Given the description of an element on the screen output the (x, y) to click on. 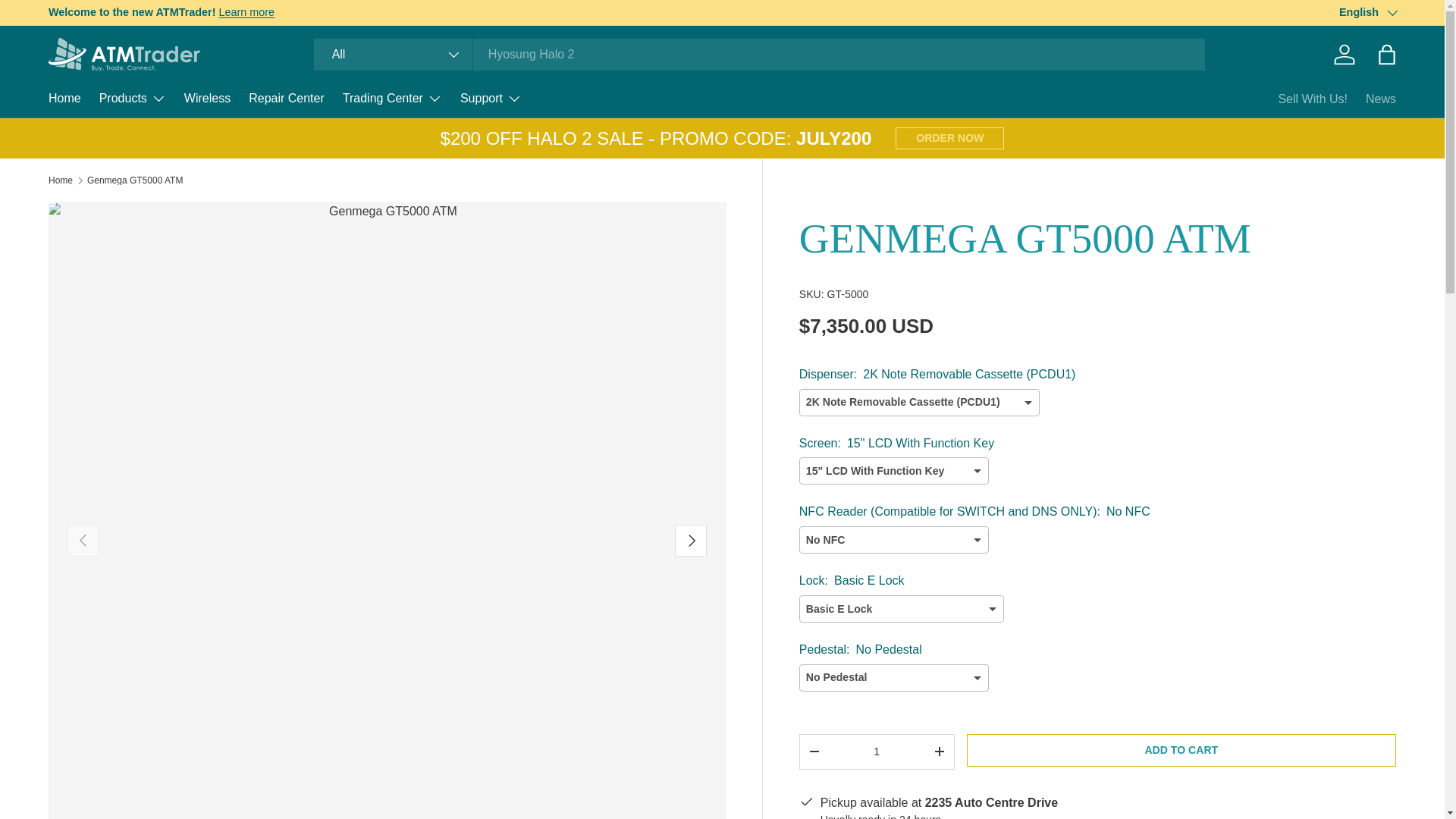
Introducing the all new ATMTrader: What you need to know! (246, 11)
Bag (1386, 54)
English (1367, 12)
Products (132, 98)
All (393, 54)
Learn more (246, 11)
Home (64, 98)
News (1380, 98)
Trading Center (392, 98)
Log in (1344, 54)
Home (60, 180)
Repair Center (286, 98)
Sell With Us! (1313, 98)
ORDER NOW (949, 138)
1 (876, 751)
